Given the description of an element on the screen output the (x, y) to click on. 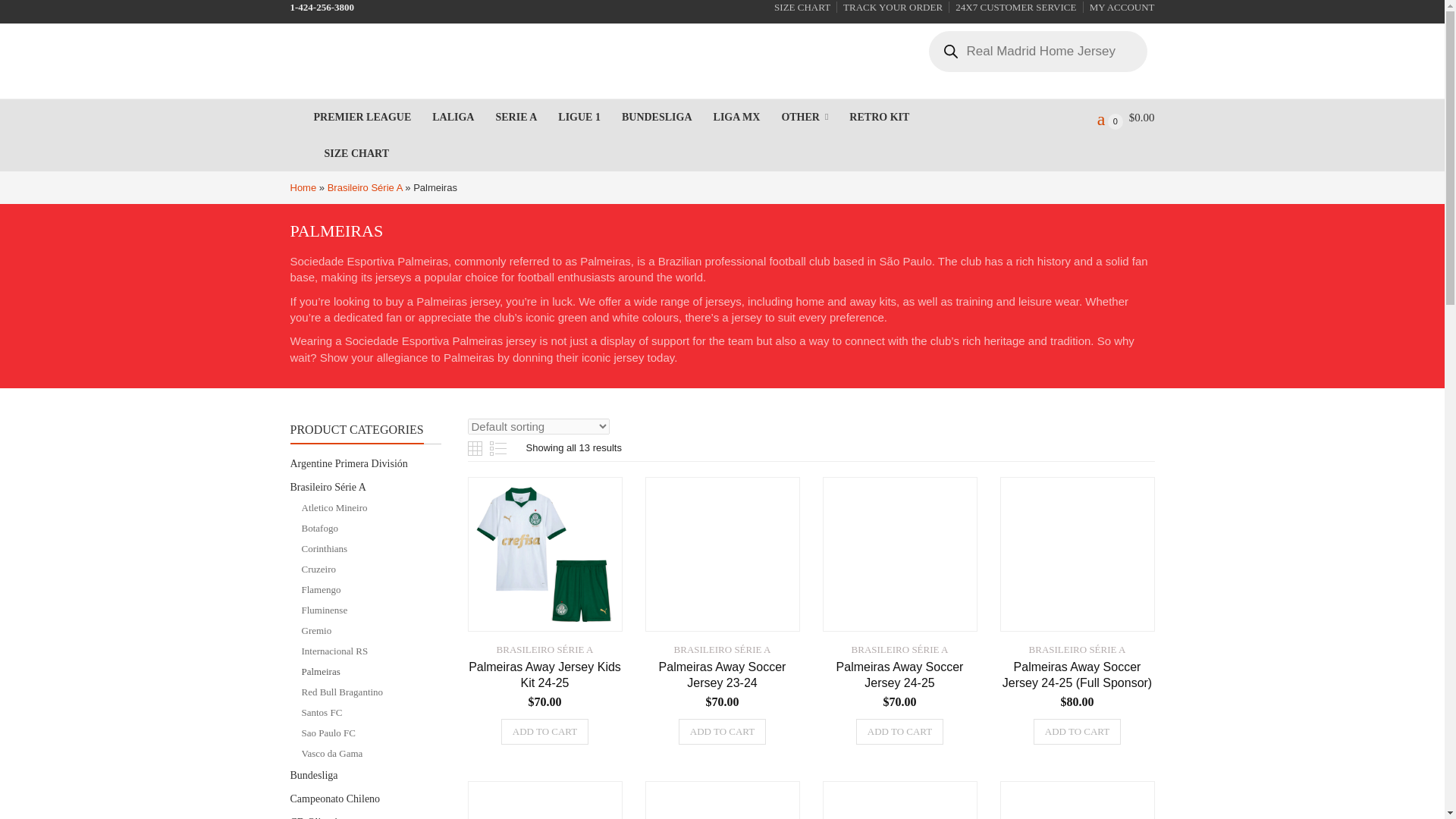
PREMIER LEAGUE (363, 117)
LALIGA (453, 117)
LIGA MX (736, 117)
MY ACCOUNT (1118, 7)
RETRO KIT (878, 117)
LIGUE 1 (578, 117)
SERIE A (516, 117)
BUNDESLIGA (657, 117)
SIZE CHART (356, 153)
OTHER (804, 117)
